Given the description of an element on the screen output the (x, y) to click on. 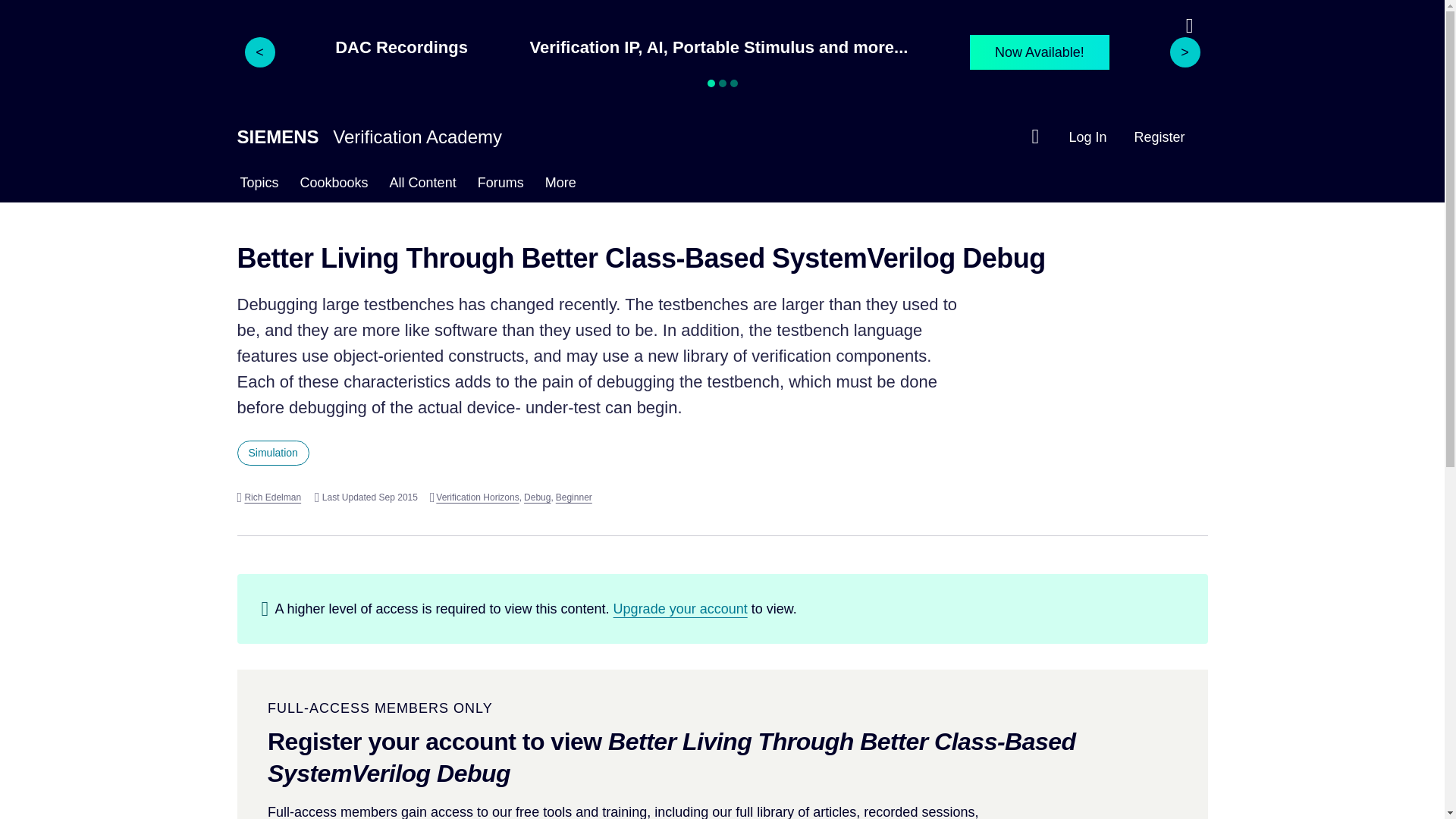
SIEMENS Verification Academy (368, 136)
Topics (258, 185)
Cookbooks (333, 185)
Log In (1086, 136)
Go to topic page (271, 453)
Now Available! (1039, 52)
September 2nd, 2015 9:10:43 AM (365, 497)
Register (1158, 136)
